Given the description of an element on the screen output the (x, y) to click on. 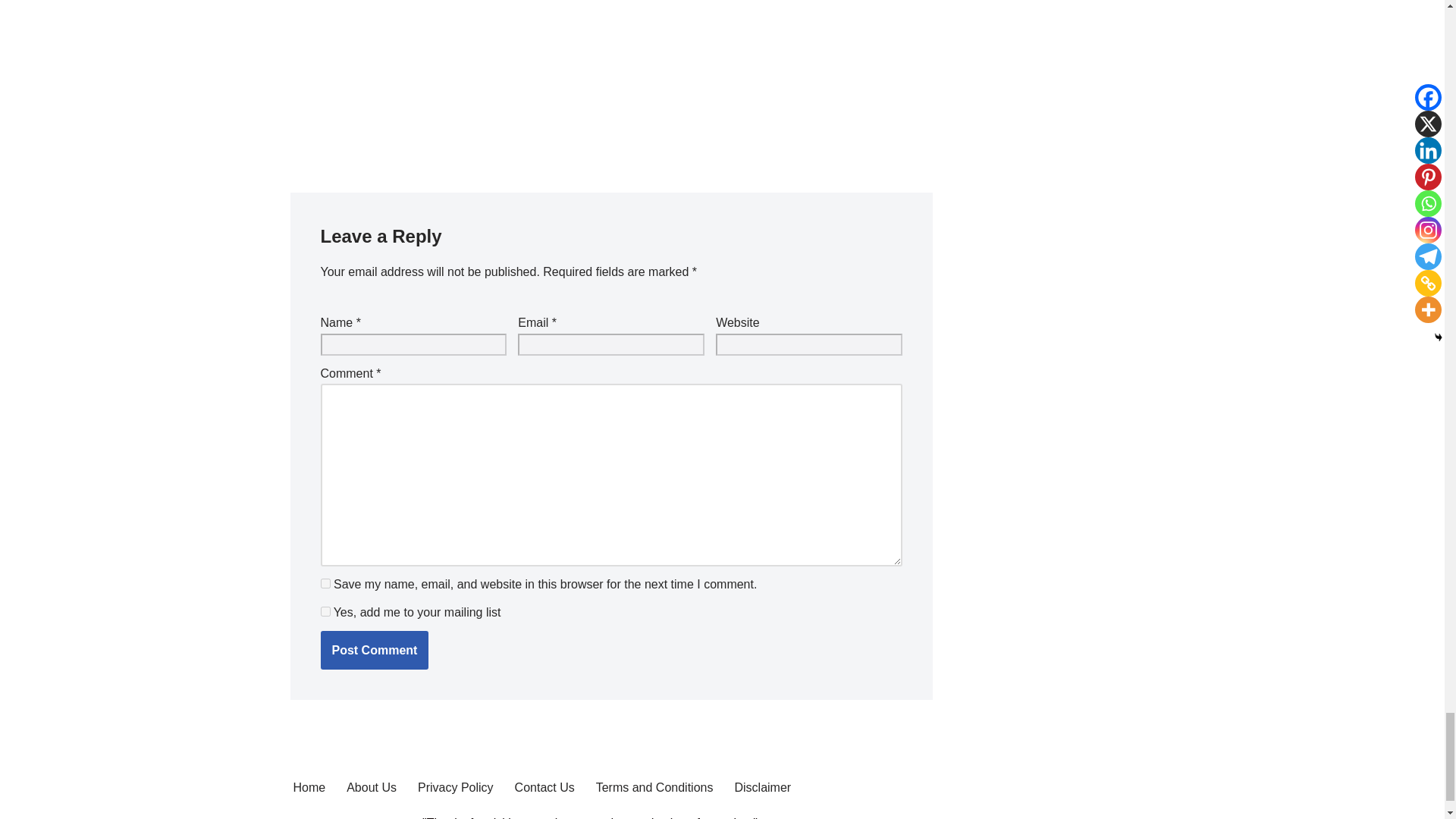
1 (325, 611)
Post Comment (374, 650)
yes (325, 583)
